Given the description of an element on the screen output the (x, y) to click on. 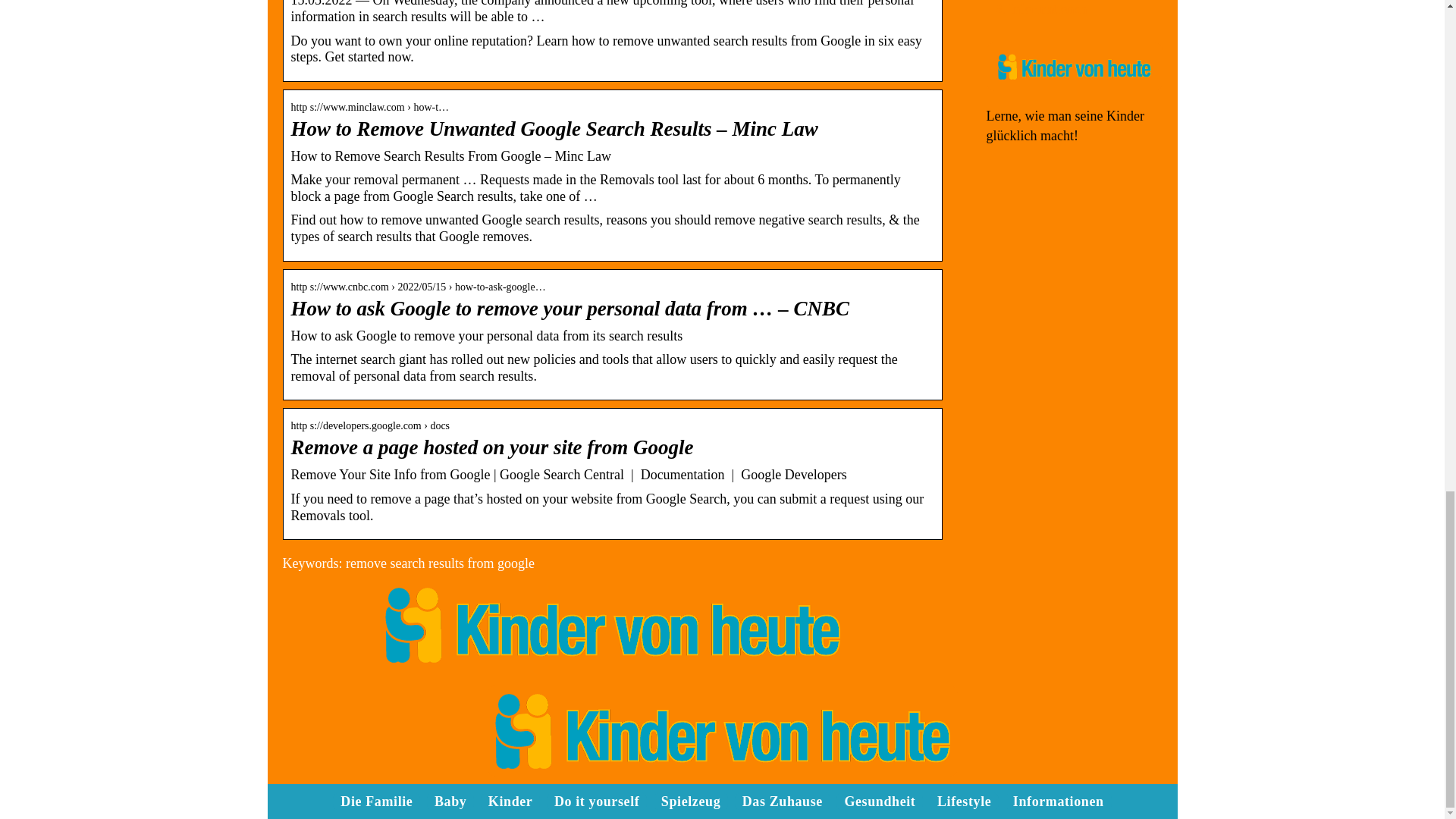
Baby (449, 801)
Informationen (1047, 8)
Das Zuhause (782, 801)
Do it yourself (596, 801)
Die Familie (376, 801)
Spielzeug (690, 801)
Gesundheit (879, 801)
Kinder (509, 801)
